Given the description of an element on the screen output the (x, y) to click on. 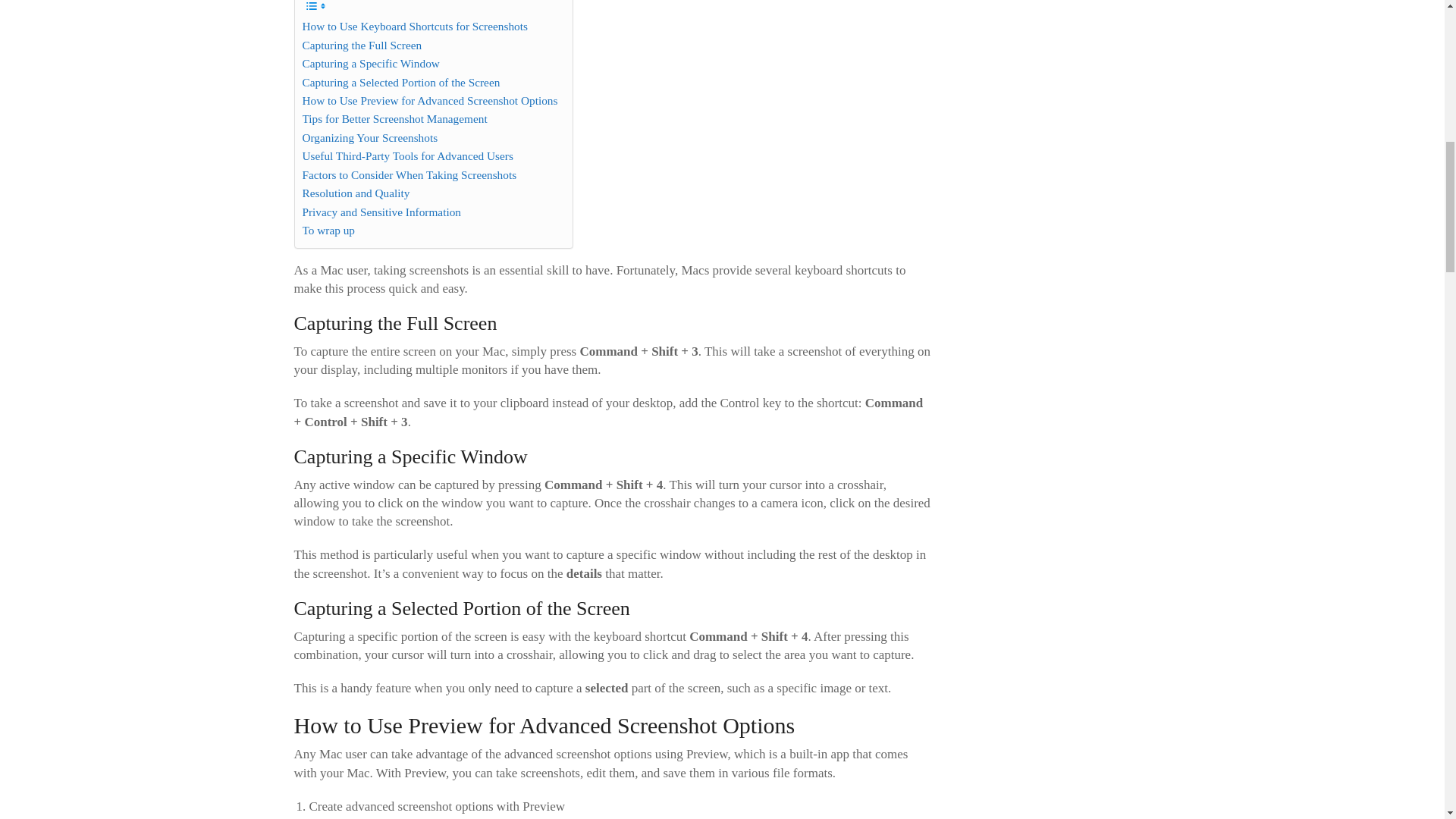
Resolution and Quality (355, 193)
How to Use Keyboard Shortcuts for Screenshots (414, 26)
Privacy and Sensitive Information (380, 212)
Useful Third-Party Tools for Advanced Users (406, 156)
Capturing the Full Screen (361, 45)
Resolution and Quality (355, 193)
To wrap up (327, 230)
Tips for Better Screenshot Management (393, 118)
Tips for Better Screenshot Management (393, 118)
Capturing a Specific Window (370, 63)
